Given the description of an element on the screen output the (x, y) to click on. 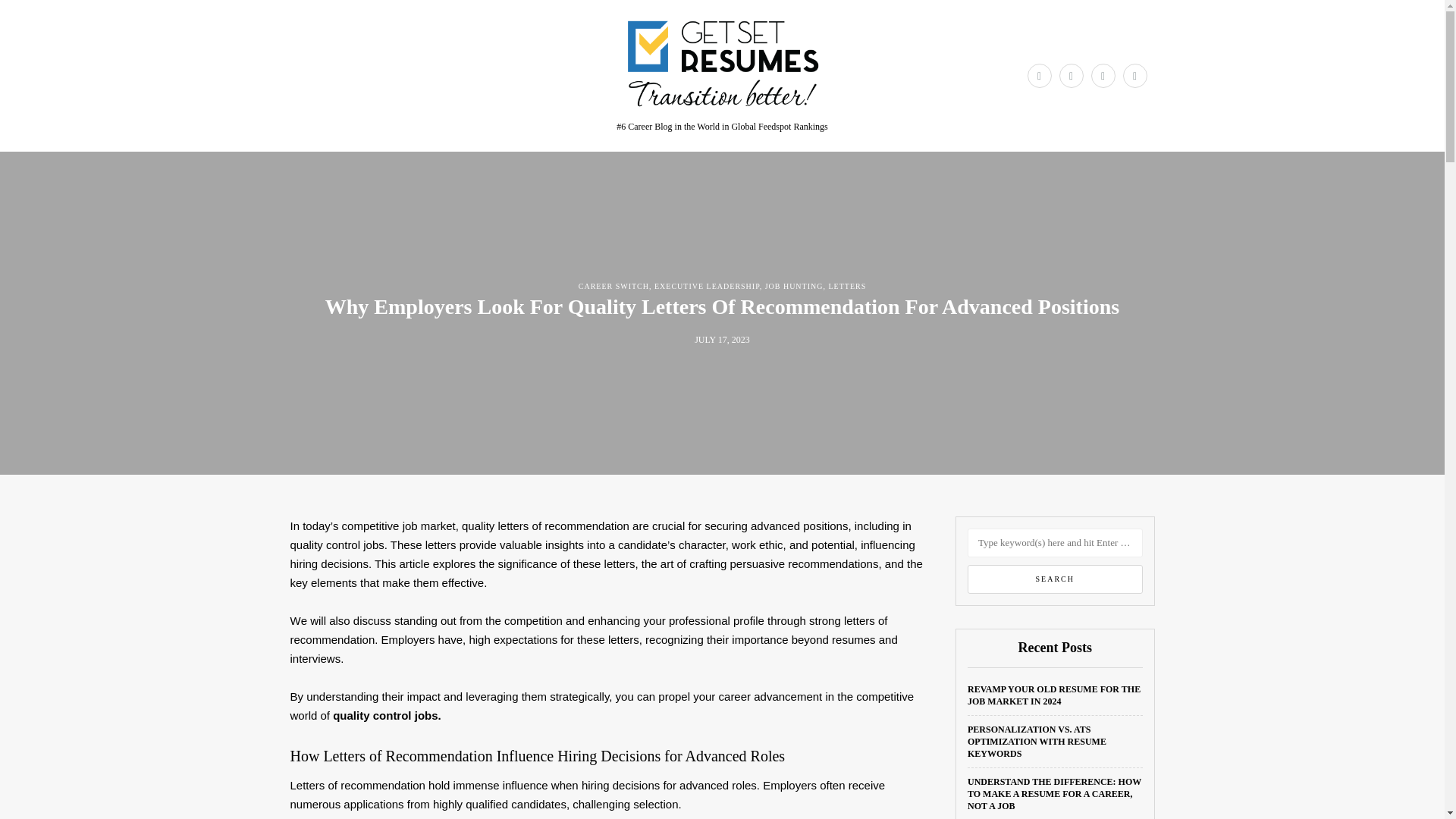
PERSONALIZATION VS. ATS OPTIMIZATION WITH RESUME KEYWORDS (1037, 741)
Search (1055, 579)
CAREER SWITCH (613, 285)
REVAMP YOUR OLD RESUME FOR THE JOB MARKET IN 2024 (1054, 694)
JOB HUNTING (794, 285)
Search (1055, 579)
LETTERS (847, 285)
EXECUTIVE LEADERSHIP (706, 285)
